Given the description of an element on the screen output the (x, y) to click on. 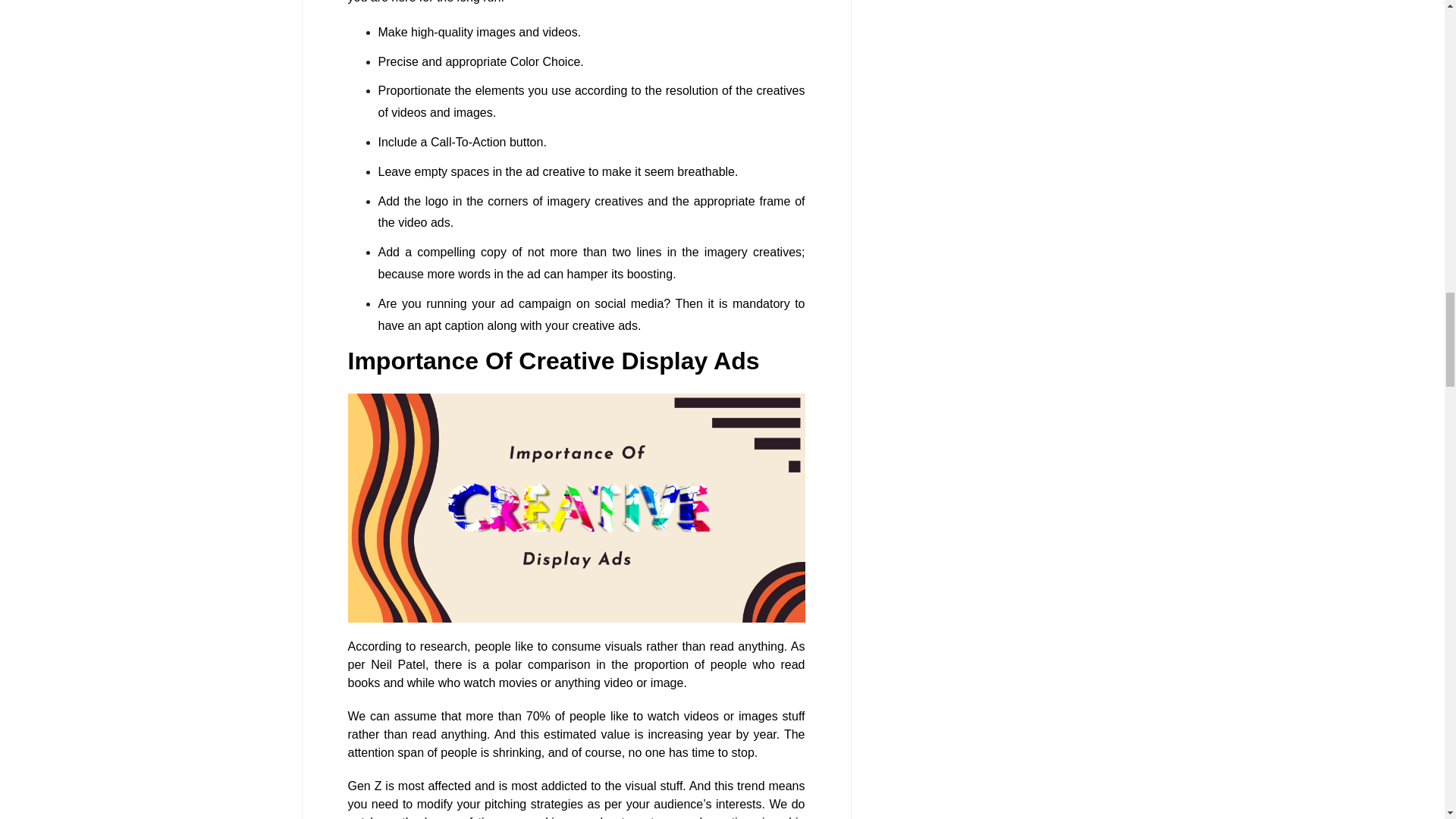
Importance (576, 507)
